Given the description of an element on the screen output the (x, y) to click on. 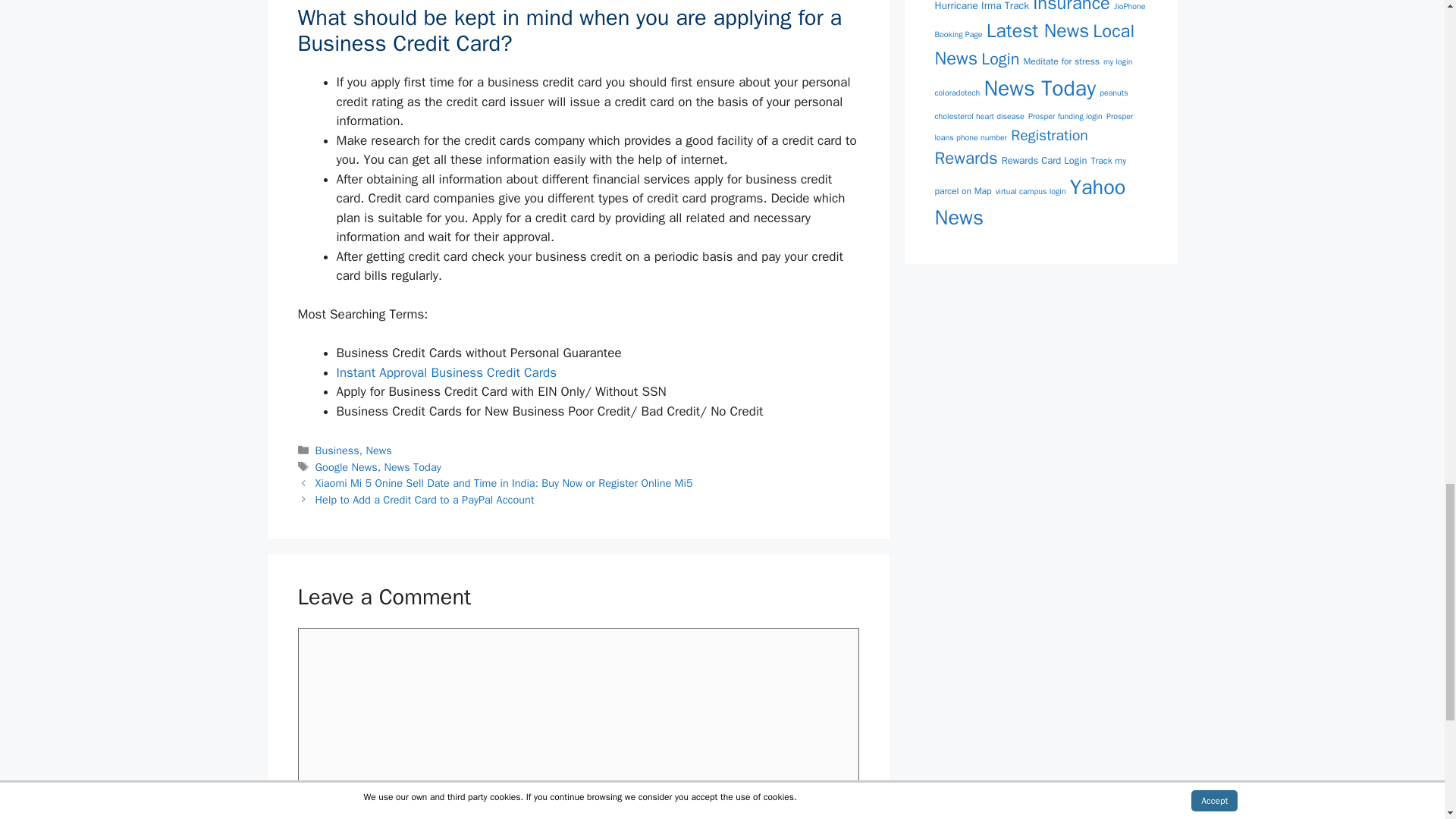
Business (337, 450)
News Today (412, 467)
Google News (346, 467)
Instant Approval Business Credit Cards (446, 372)
Help to Add a Credit Card to a PayPal Account (424, 499)
News (378, 450)
